Given the description of an element on the screen output the (x, y) to click on. 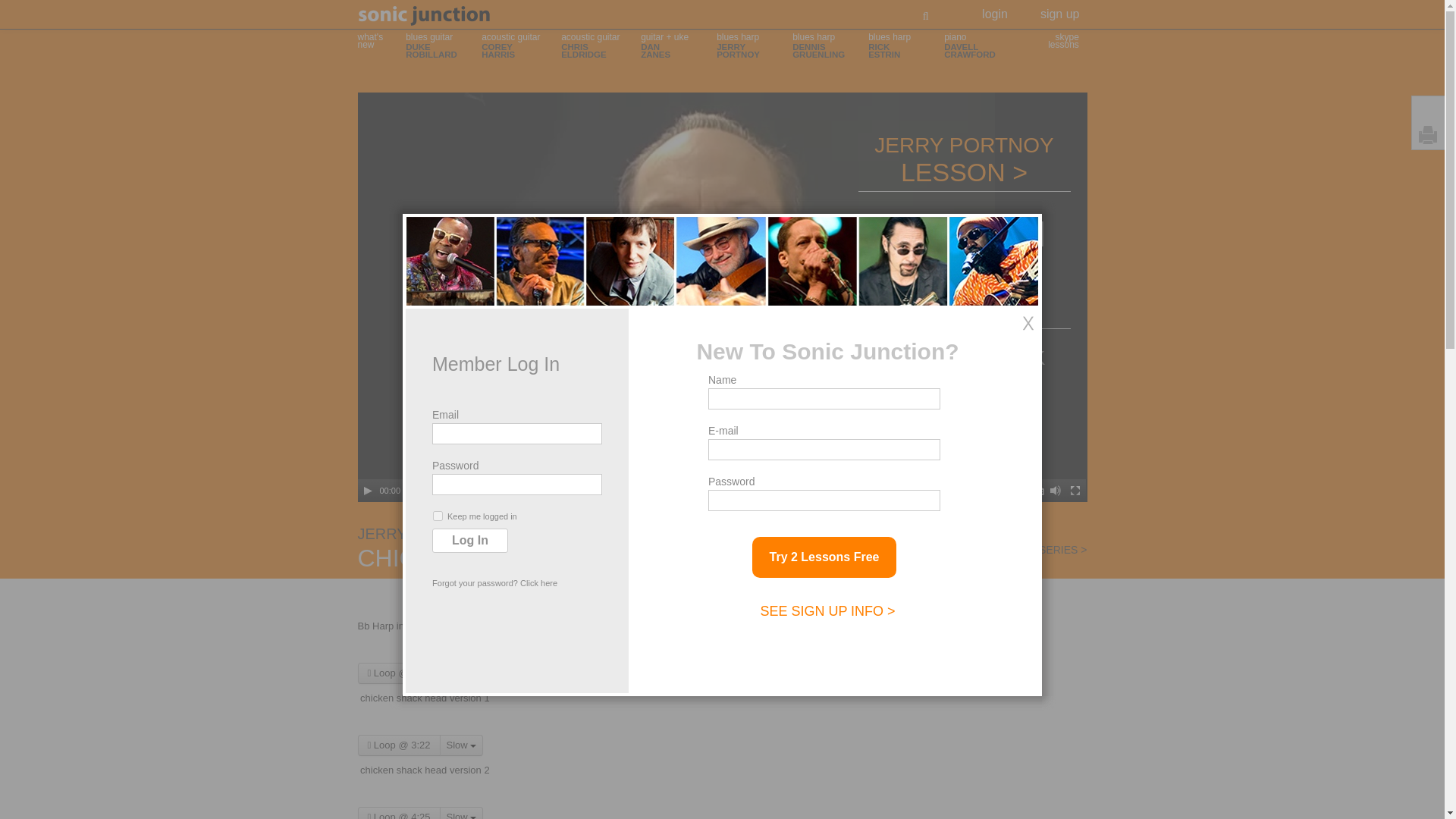
Play (598, 48)
Slow (366, 490)
Log In (987, 48)
Fullscreen (461, 744)
login (470, 540)
Mute (1074, 490)
Try 2 Lessons Free (994, 9)
Slow (829, 48)
